Given the description of an element on the screen output the (x, y) to click on. 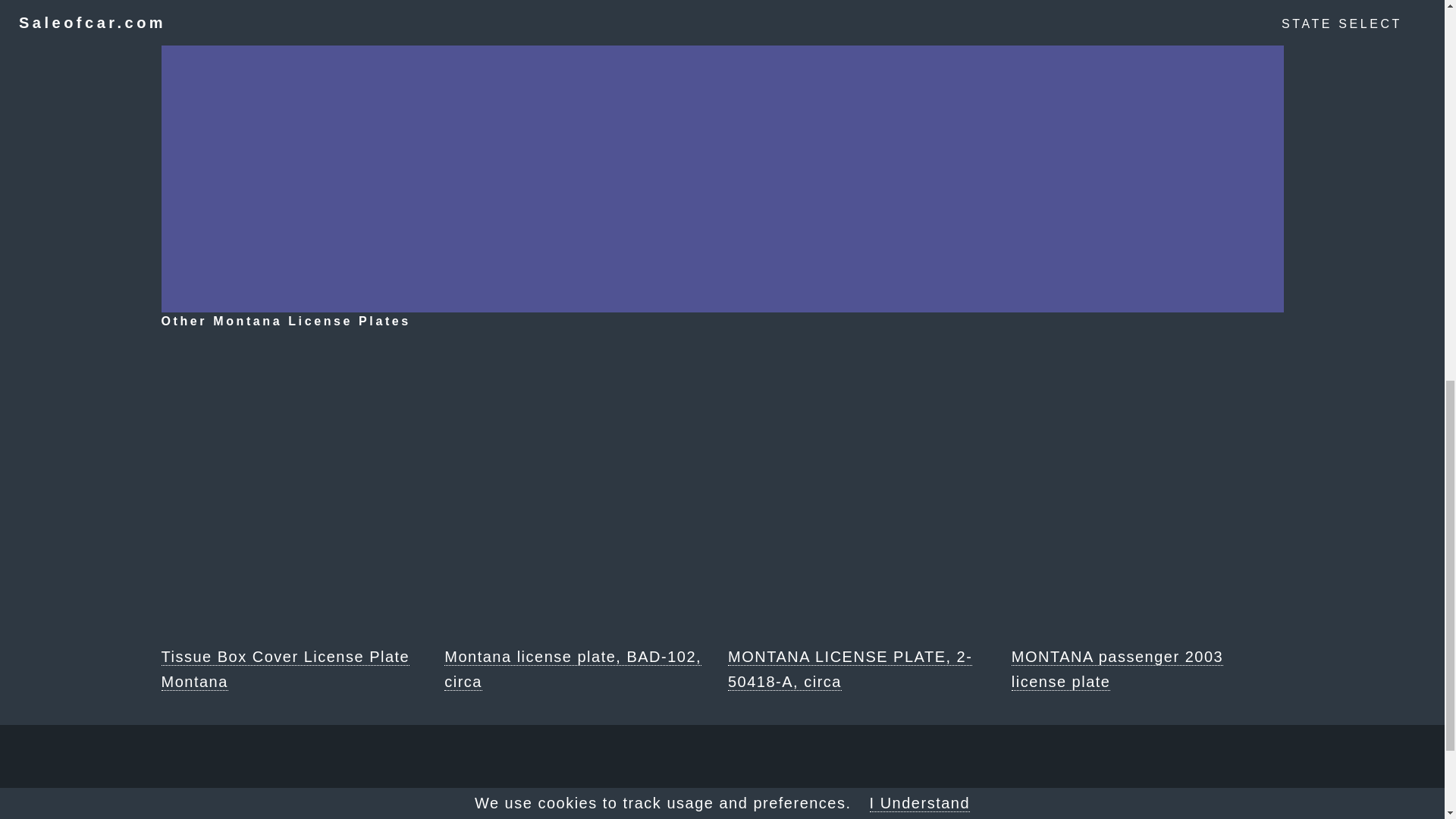
MONTANA LICENSE PLATE, 2-50418-A, circa (864, 517)
ABOUT (640, 812)
Tissue Box Cover License Plate Montana (296, 517)
TERMS (803, 812)
Montana license plate, BAD-102, circa (580, 517)
MONTANA passenger 2003 license plate (1147, 517)
PRIVACY (721, 812)
